Given the description of an element on the screen output the (x, y) to click on. 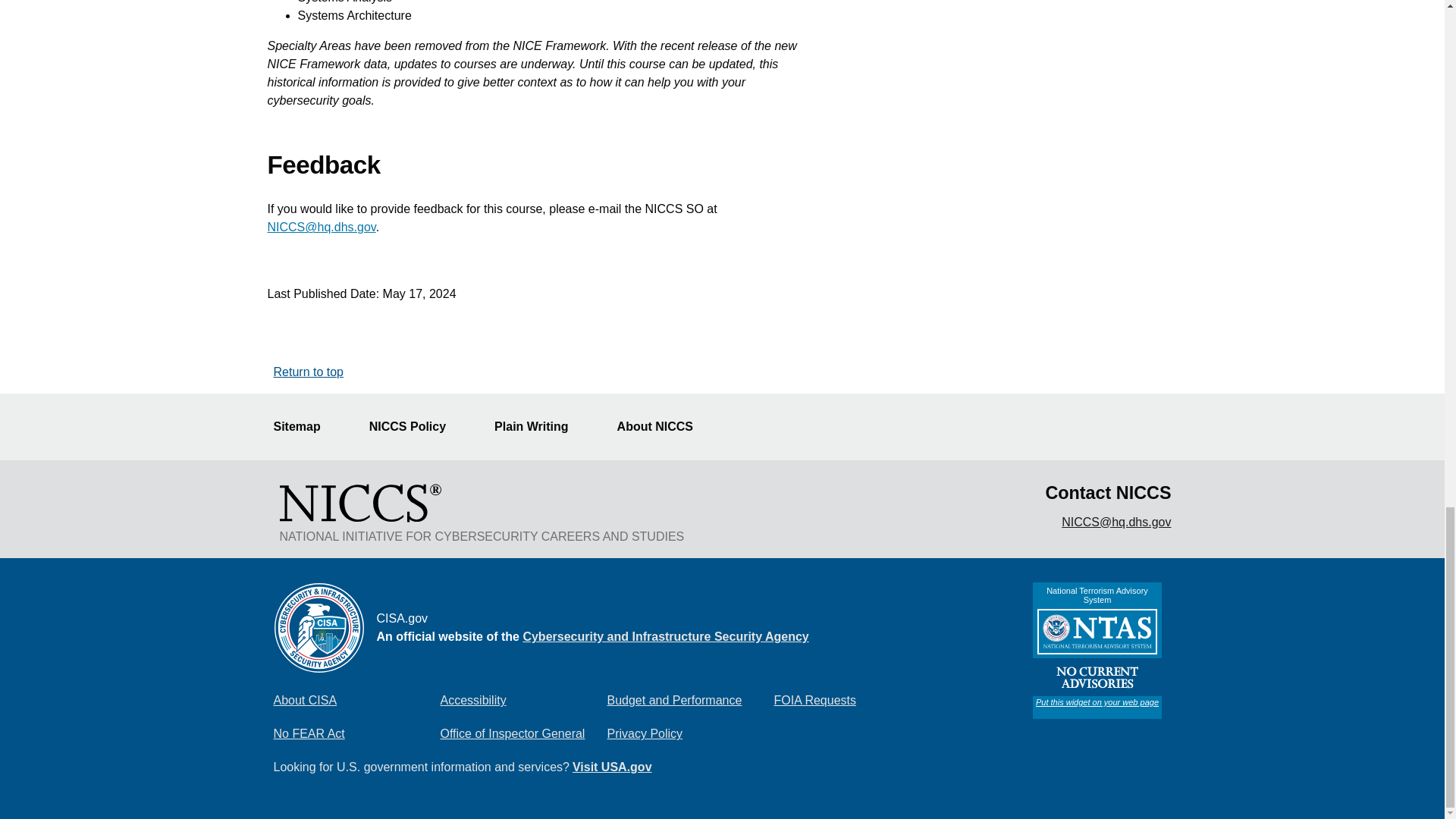
Sitemap (305, 426)
National Initiative for Cybersecurity Careers and Studies (360, 502)
About CISA (356, 700)
Visit the USA.gov website (612, 767)
Sitemap (305, 426)
Accessibility (523, 700)
Privacy Policy (690, 734)
Plain Writing (540, 426)
Return to top (308, 371)
About NICCS (664, 426)
No FEAR Act (356, 734)
About NICCS (664, 426)
FOIA Requests (856, 700)
NICCS Policy (416, 426)
Office of Inspector General (523, 734)
